Given the description of an element on the screen output the (x, y) to click on. 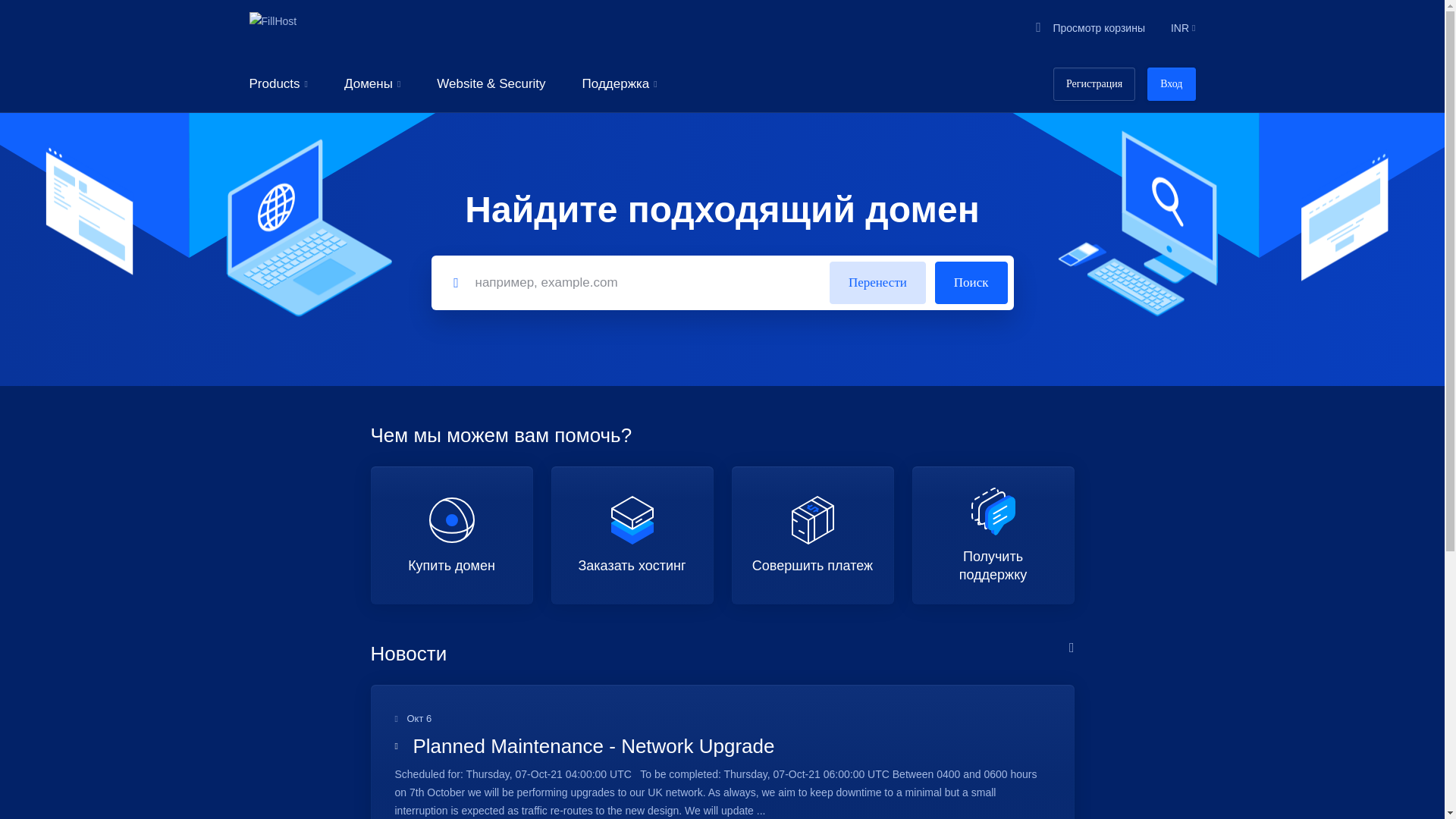
Products (277, 84)
INR (1179, 27)
FillHost (272, 28)
